Given the description of an element on the screen output the (x, y) to click on. 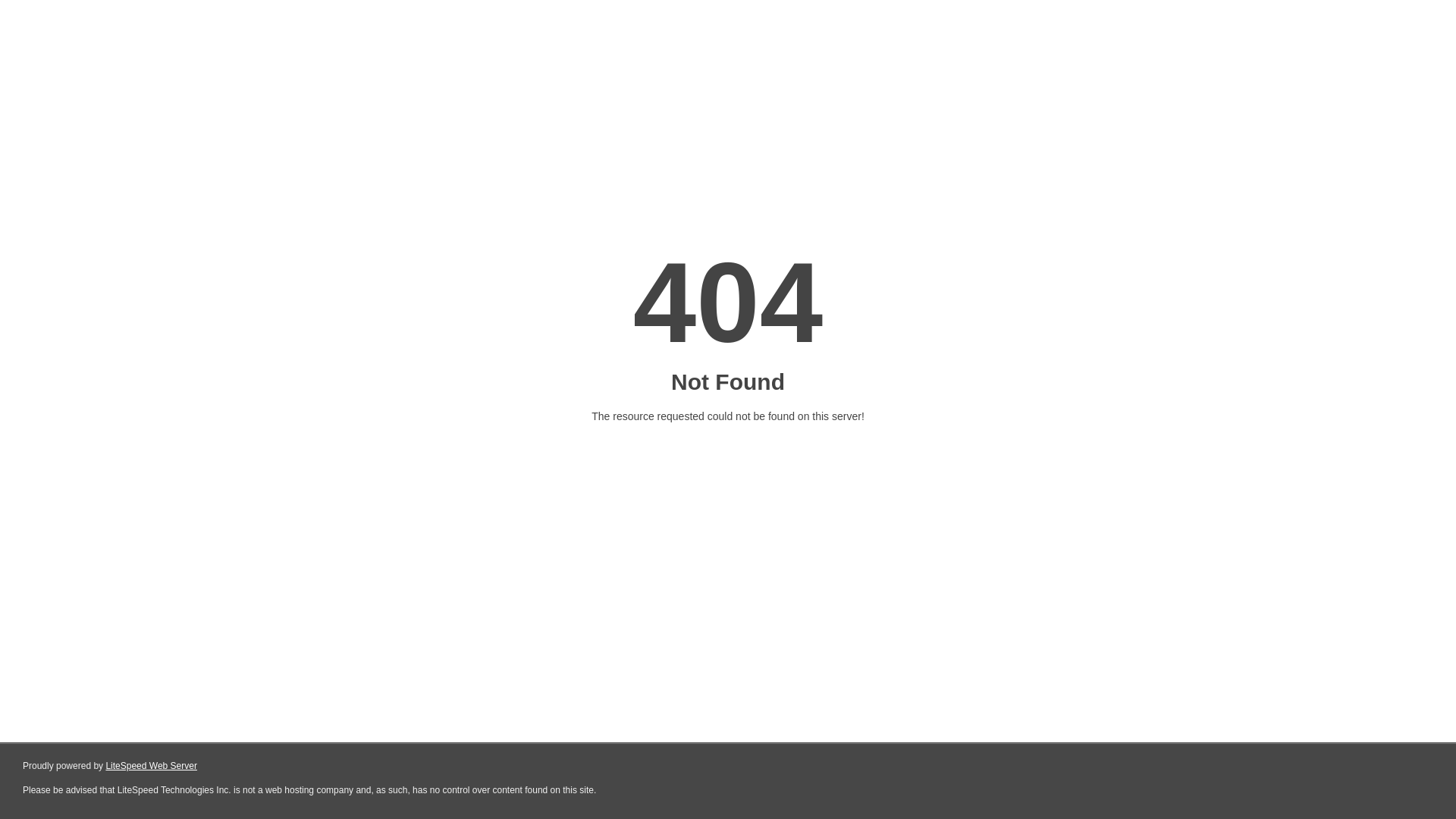
LiteSpeed Web Server (150, 765)
